Given the description of an element on the screen output the (x, y) to click on. 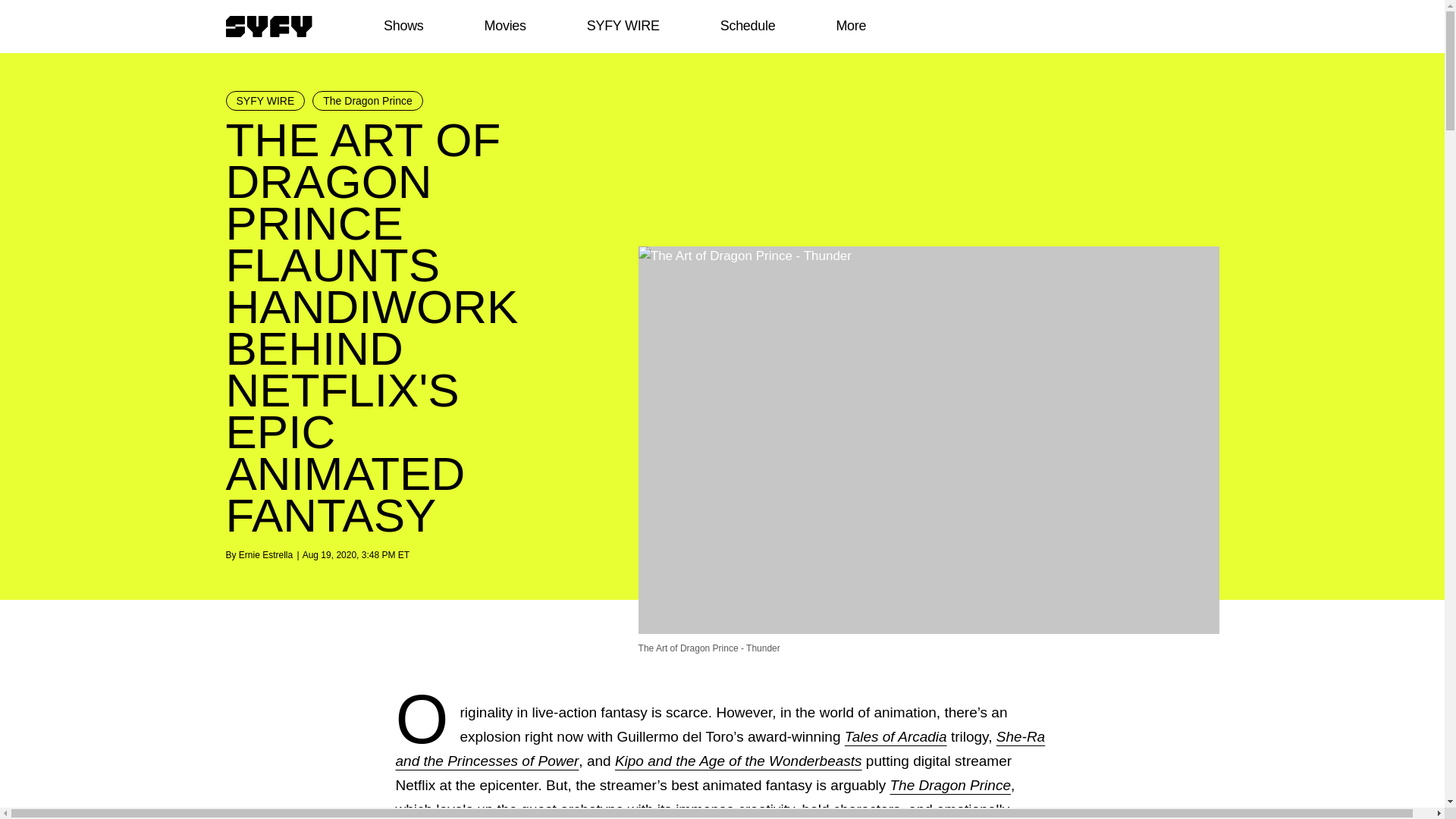
SYFY WIRE (622, 26)
More (850, 26)
SYFY WIRE (265, 100)
Shows (403, 26)
Kipo and the Age of the Wonderbeasts (737, 760)
bold characters (851, 809)
Ernie Estrella (265, 554)
Movies (504, 26)
Tales of Arcadia (895, 736)
She-Ra and the Princesses of Power (720, 748)
The Dragon Prince (949, 785)
Schedule (746, 26)
The Dragon Prince (368, 100)
